Given the description of an element on the screen output the (x, y) to click on. 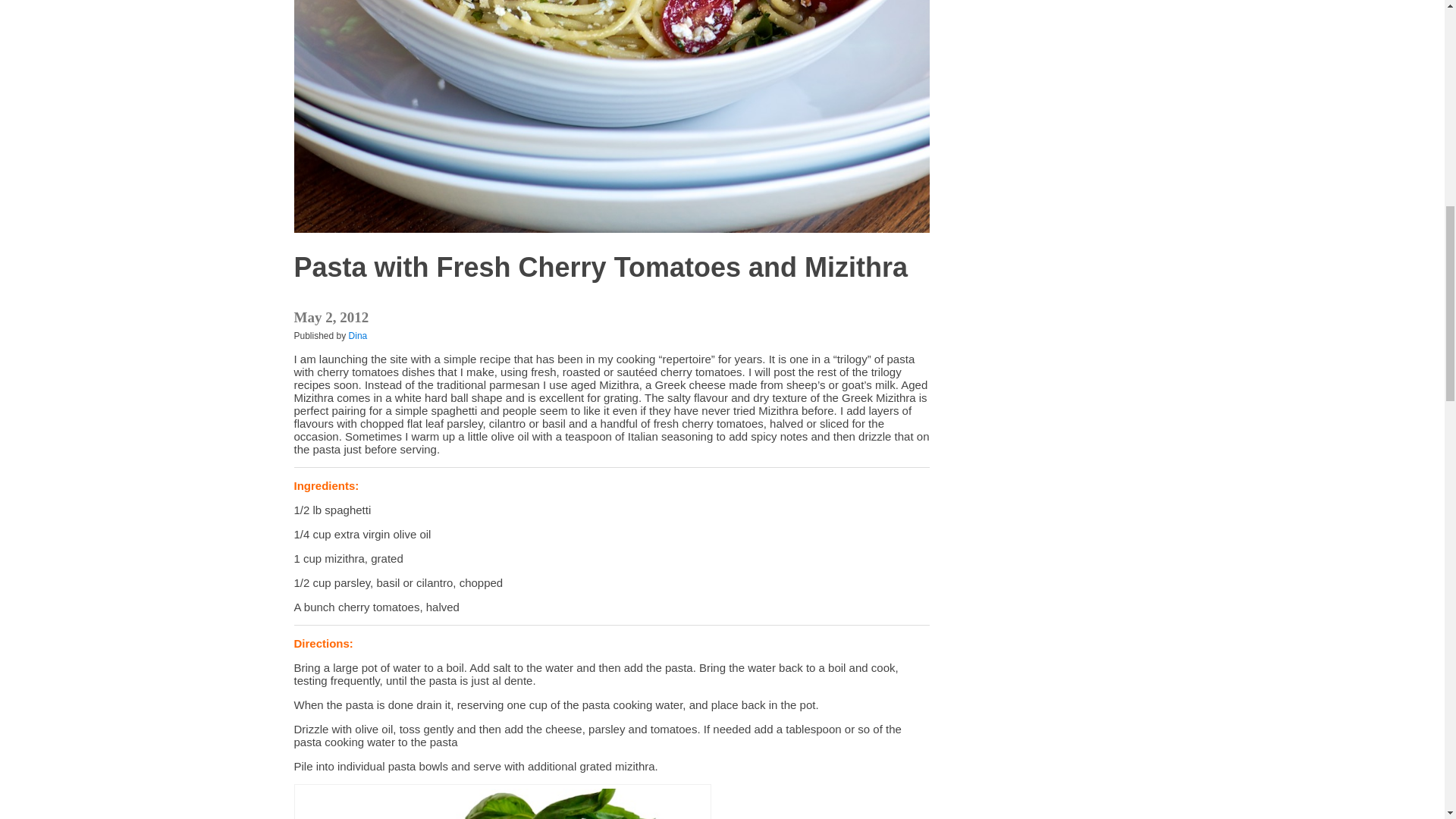
Pasta with Cherry Tomatoes and Mizithra Cheese (501, 803)
